Given the description of an element on the screen output the (x, y) to click on. 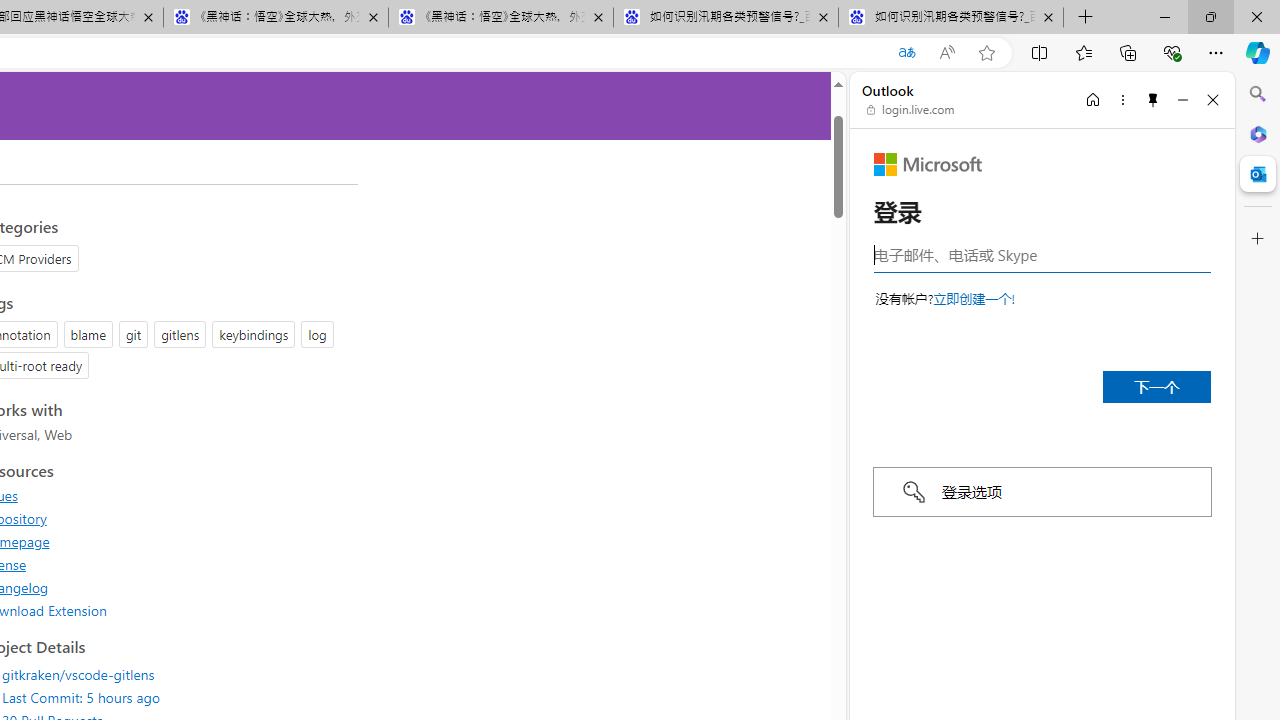
login.live.com (911, 110)
